Given the description of an element on the screen output the (x, y) to click on. 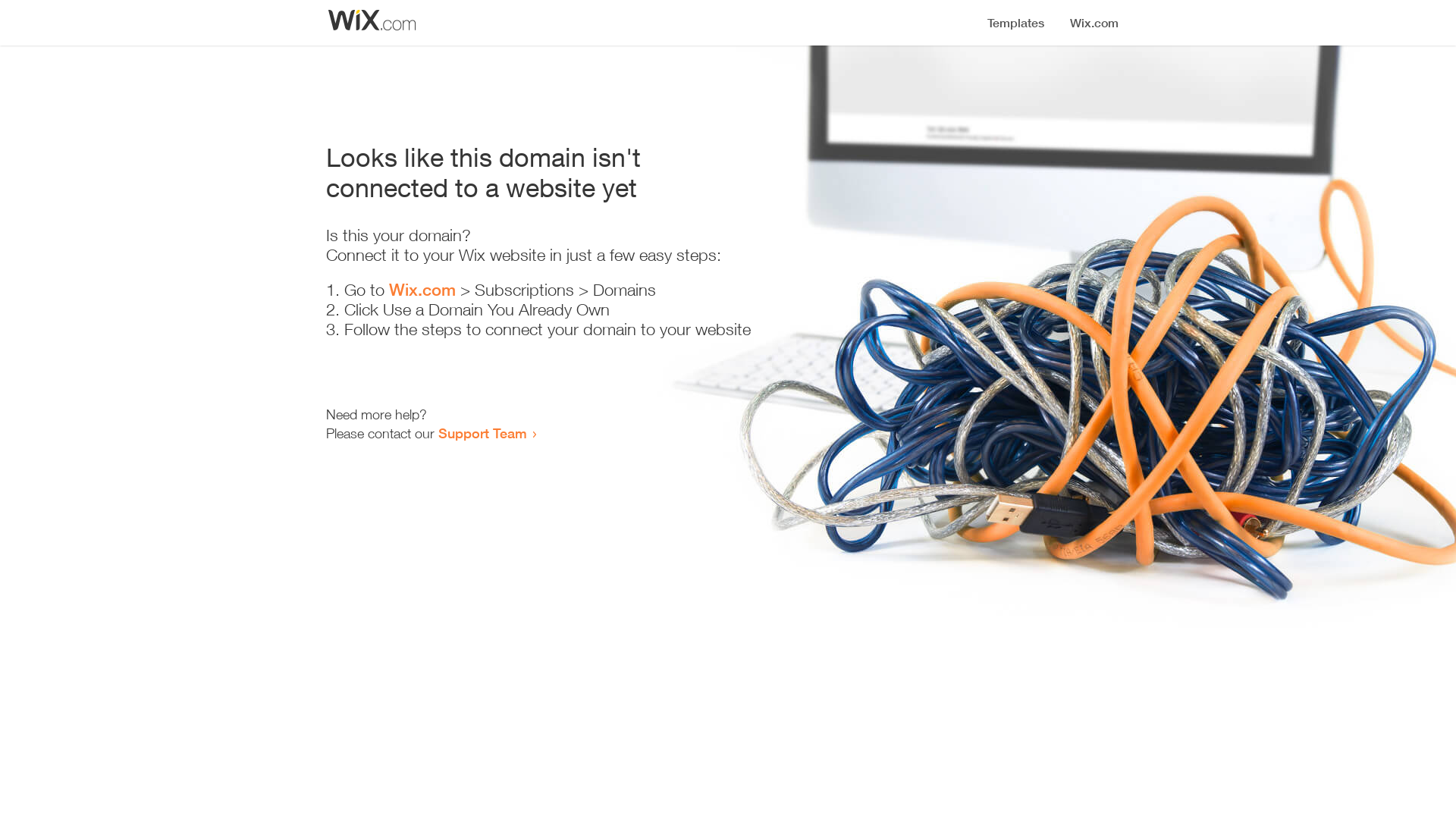
Support Team Element type: text (482, 432)
Wix.com Element type: text (422, 289)
